Given the description of an element on the screen output the (x, y) to click on. 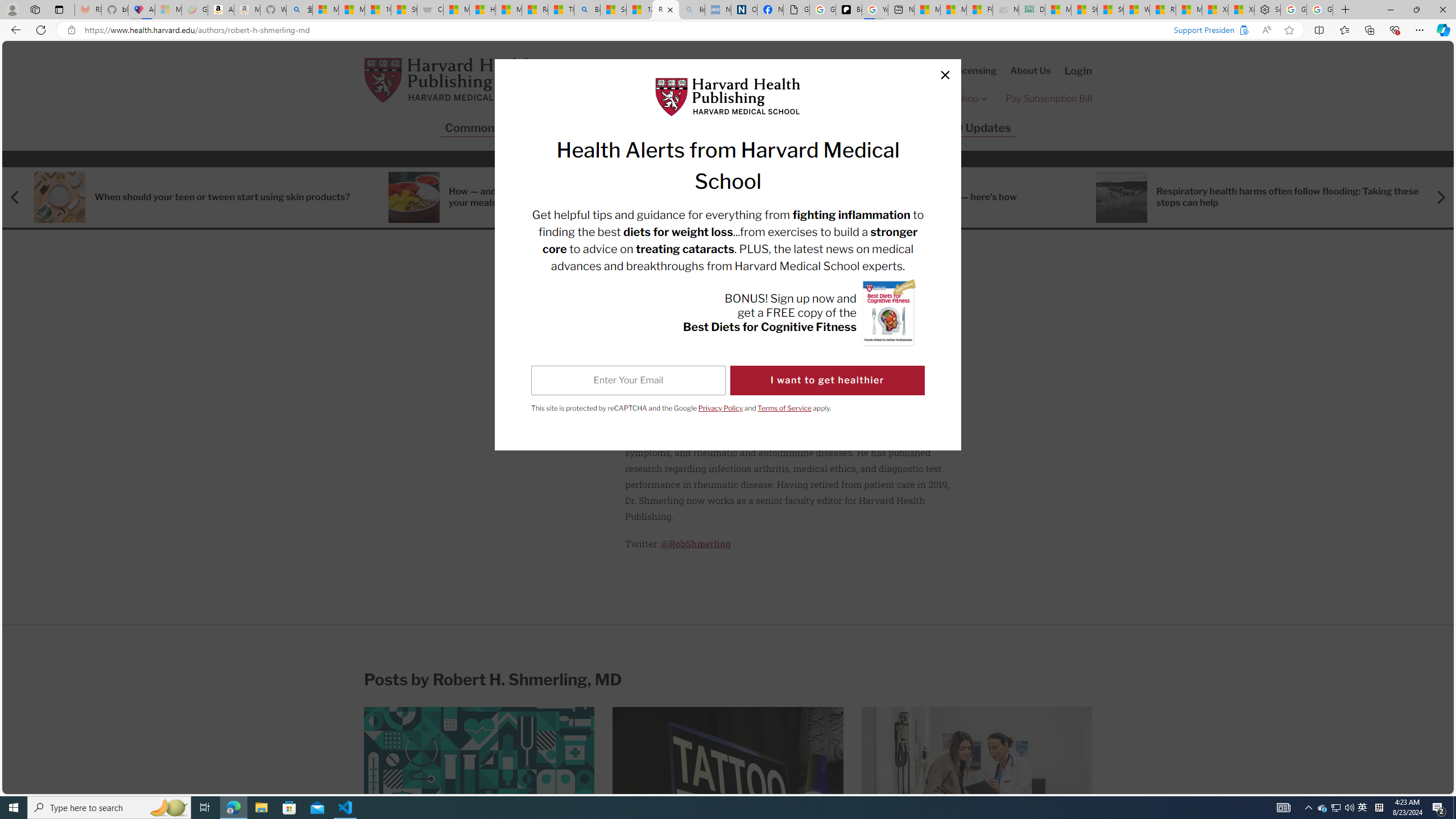
Login (1078, 70)
Google Analytics Opt-out Browser Add-on Download Page (795, 9)
Shopping Cart (803, 70)
Previous (20, 197)
